Given the description of an element on the screen output the (x, y) to click on. 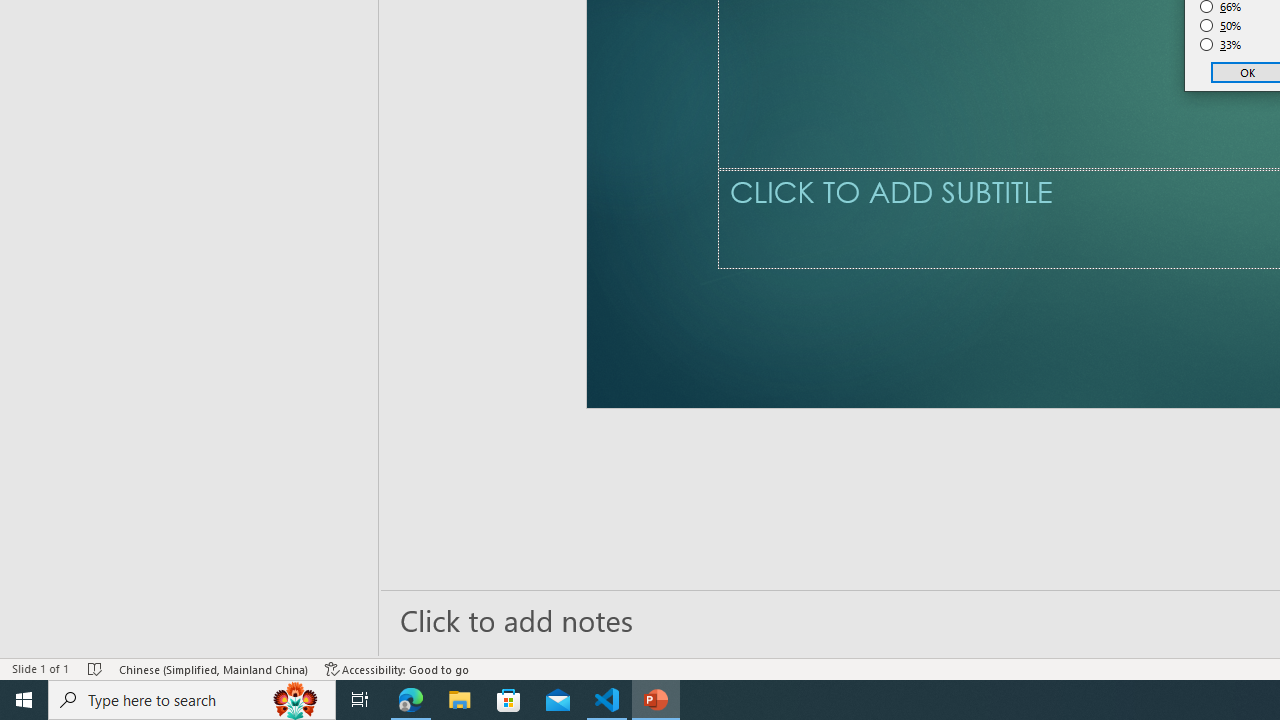
33% (1221, 44)
Accessibility Checker Accessibility: Good to go (397, 668)
50% (1221, 25)
